Given the description of an element on the screen output the (x, y) to click on. 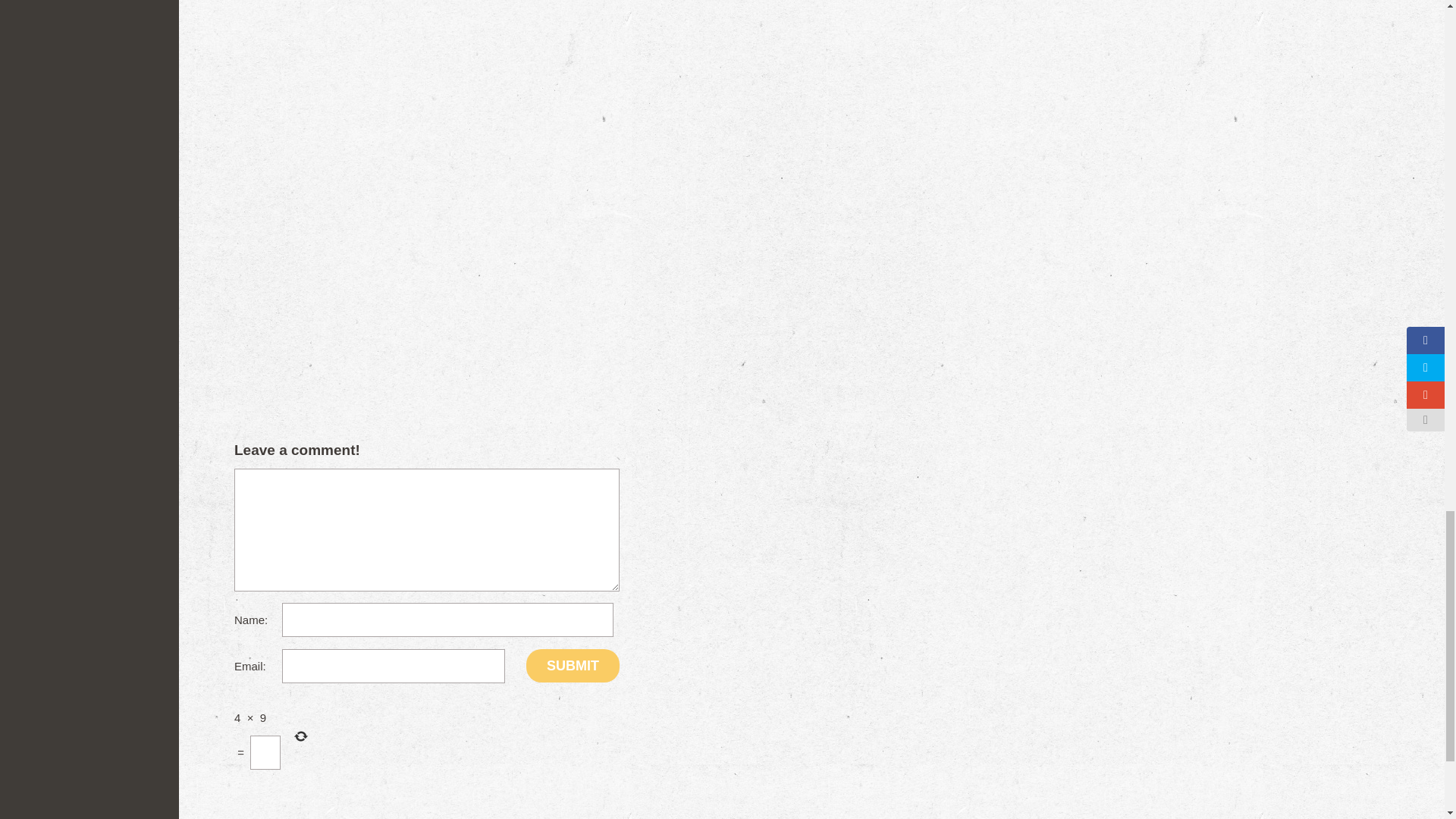
SUBMIT (572, 665)
